Given the description of an element on the screen output the (x, y) to click on. 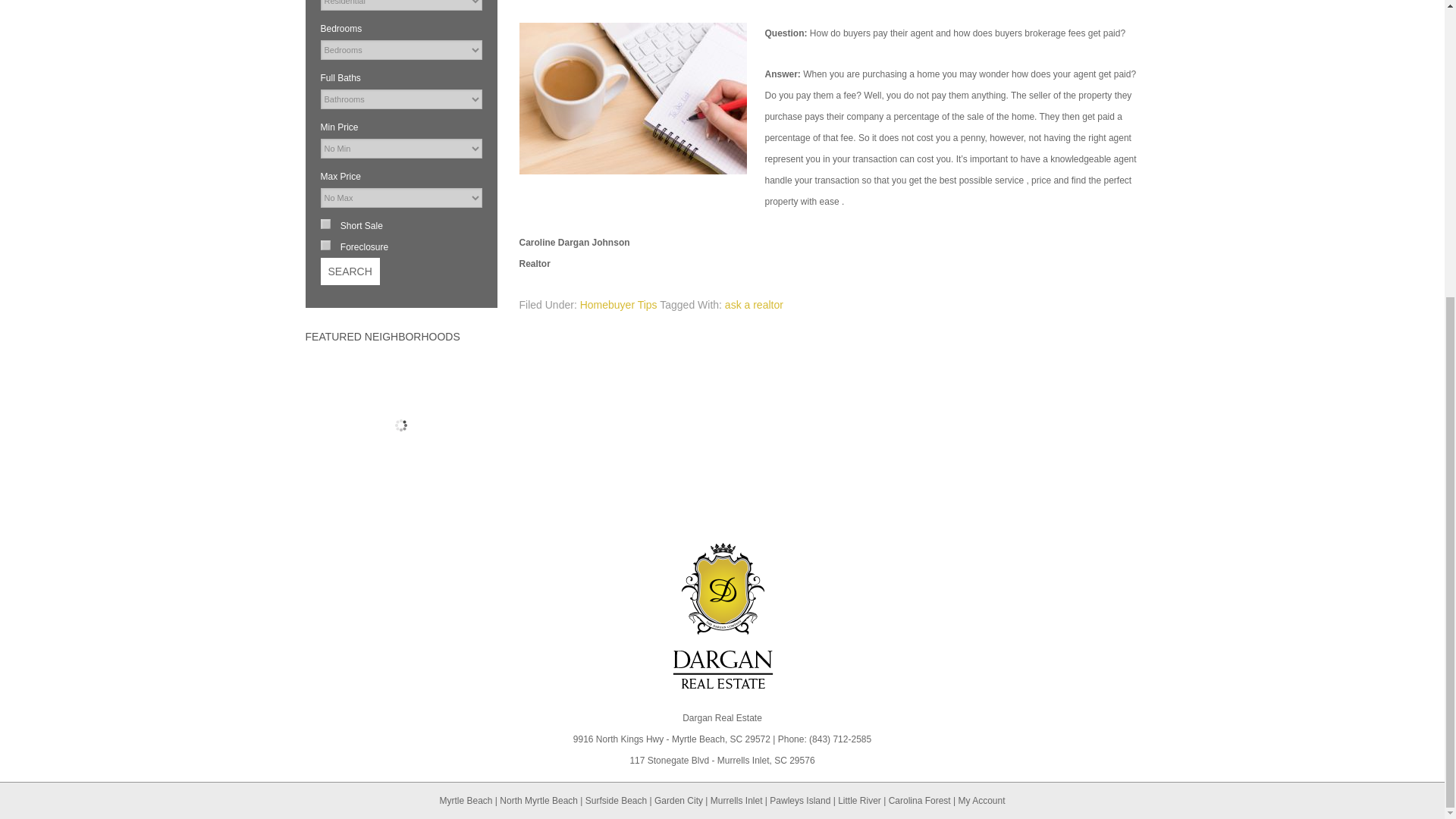
Garden City (678, 800)
ask a realtor (754, 304)
Homebuyer Tips (618, 304)
foreclosure (325, 245)
Surfside Beach (615, 800)
Myrtle Beach (465, 800)
North Myrtle Beach (538, 800)
shortsale (325, 224)
Search (349, 271)
Search (349, 271)
